Given the description of an element on the screen output the (x, y) to click on. 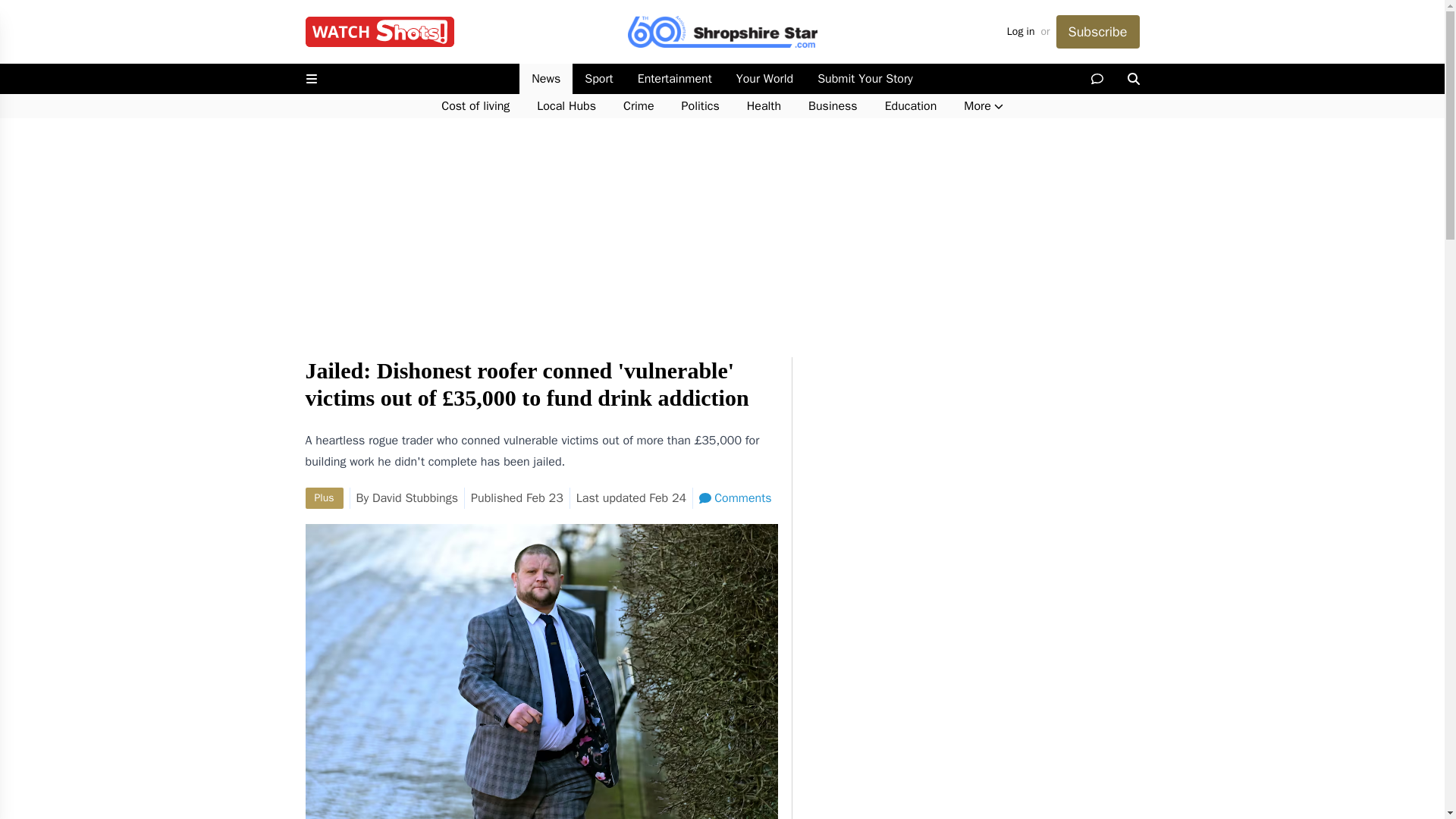
Submit Your Story (864, 78)
More (983, 105)
Log in (1021, 31)
Business (832, 105)
News (545, 78)
Health (764, 105)
Sport (598, 78)
Your World (764, 78)
Crime (638, 105)
Subscribe (1096, 31)
Education (910, 105)
Local Hubs (566, 105)
Cost of living (475, 105)
Politics (700, 105)
Entertainment (674, 78)
